Given the description of an element on the screen output the (x, y) to click on. 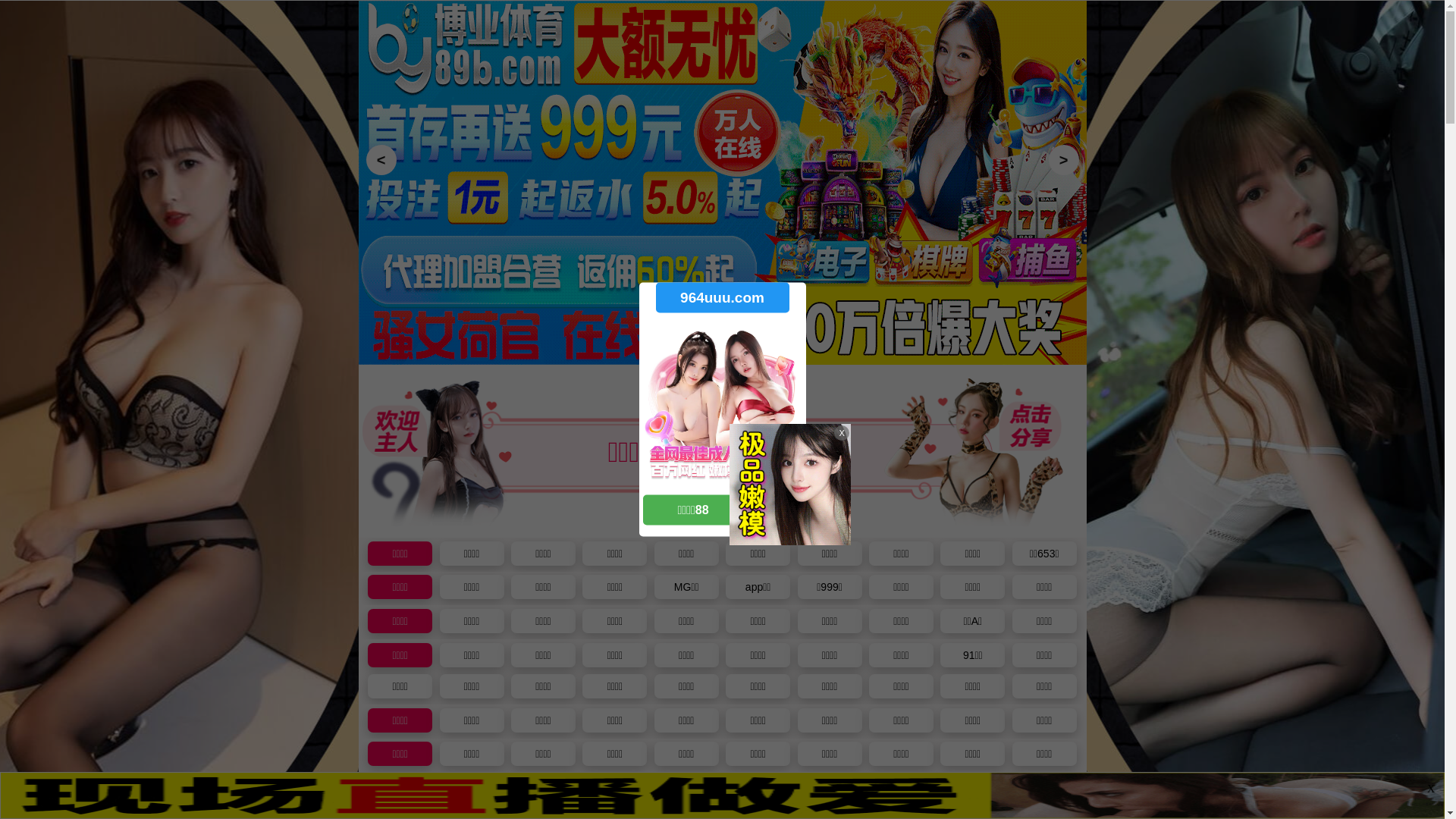
< Element type: text (380, 159)
964uuu.com Element type: text (721, 297)
X Element type: text (1430, 789)
> Element type: text (1063, 159)
